Given the description of an element on the screen output the (x, y) to click on. 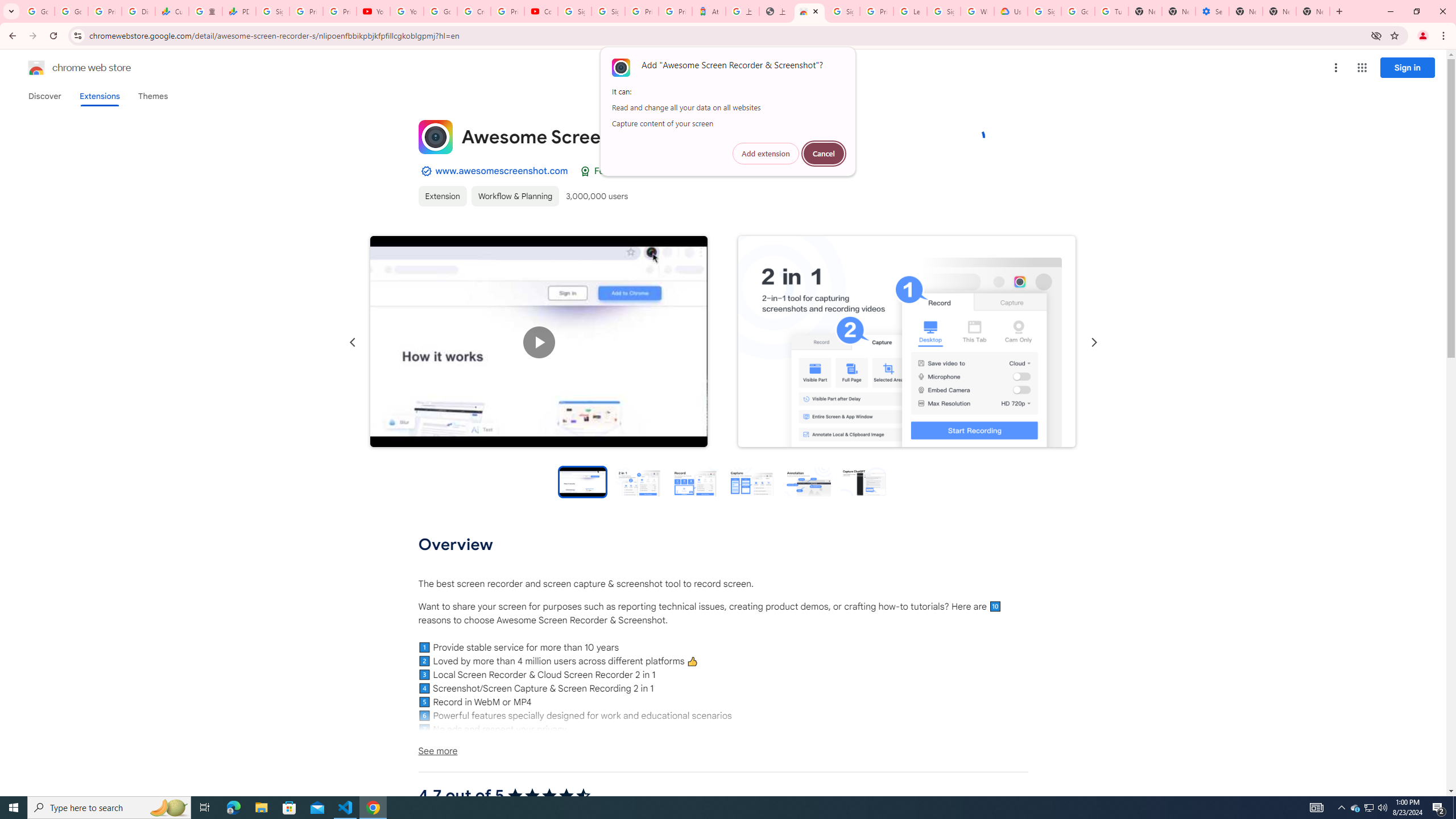
Google Account Help (441, 11)
Atour Hotel - Google hotels (708, 11)
Currencies - Google Finance (171, 11)
More options menu (1335, 67)
Turn cookies on or off - Computer - Google Account Help (1111, 11)
User Promoted Notification Area (1368, 807)
New Tab (1368, 807)
Action Center, 2 new notifications (1246, 11)
